Given the description of an element on the screen output the (x, y) to click on. 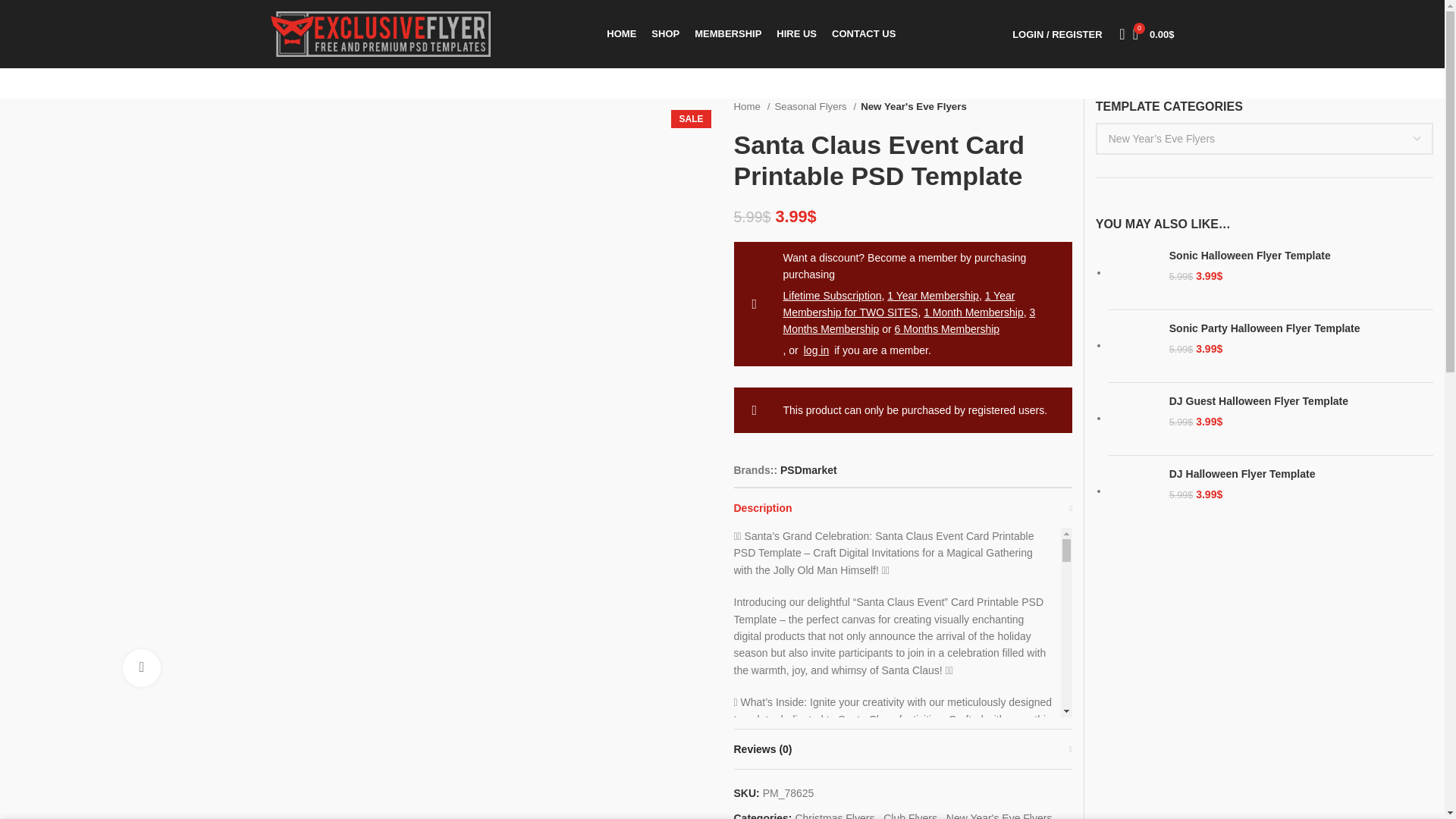
Lifetime Subscription (831, 295)
CONTACT US (863, 33)
Club Flyers (910, 815)
My account (1056, 33)
HOME (621, 33)
1 Year Membership (932, 295)
Sonic Party Halloween Flyer Template (1132, 346)
log in (815, 350)
New Year's Eve Flyers (913, 106)
Sonic Party Halloween Flyer Template (1300, 328)
